Given the description of an element on the screen output the (x, y) to click on. 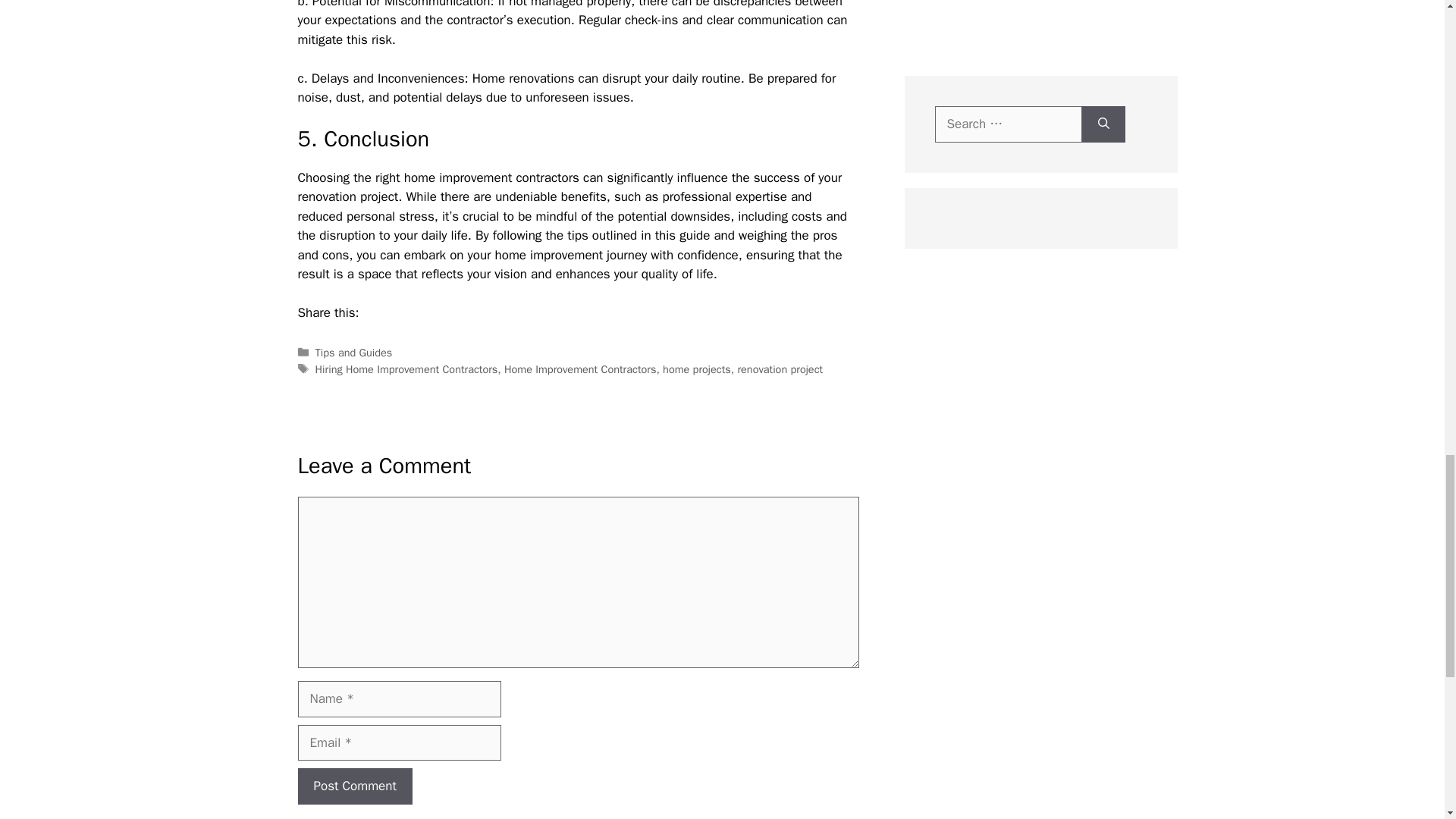
Home Improvement Contractors (579, 368)
Post Comment (354, 786)
home projects (696, 368)
Tips and Guides (354, 352)
Post Comment (354, 786)
Hiring Home Improvement Contractors (406, 368)
renovation project (779, 368)
